Given the description of an element on the screen output the (x, y) to click on. 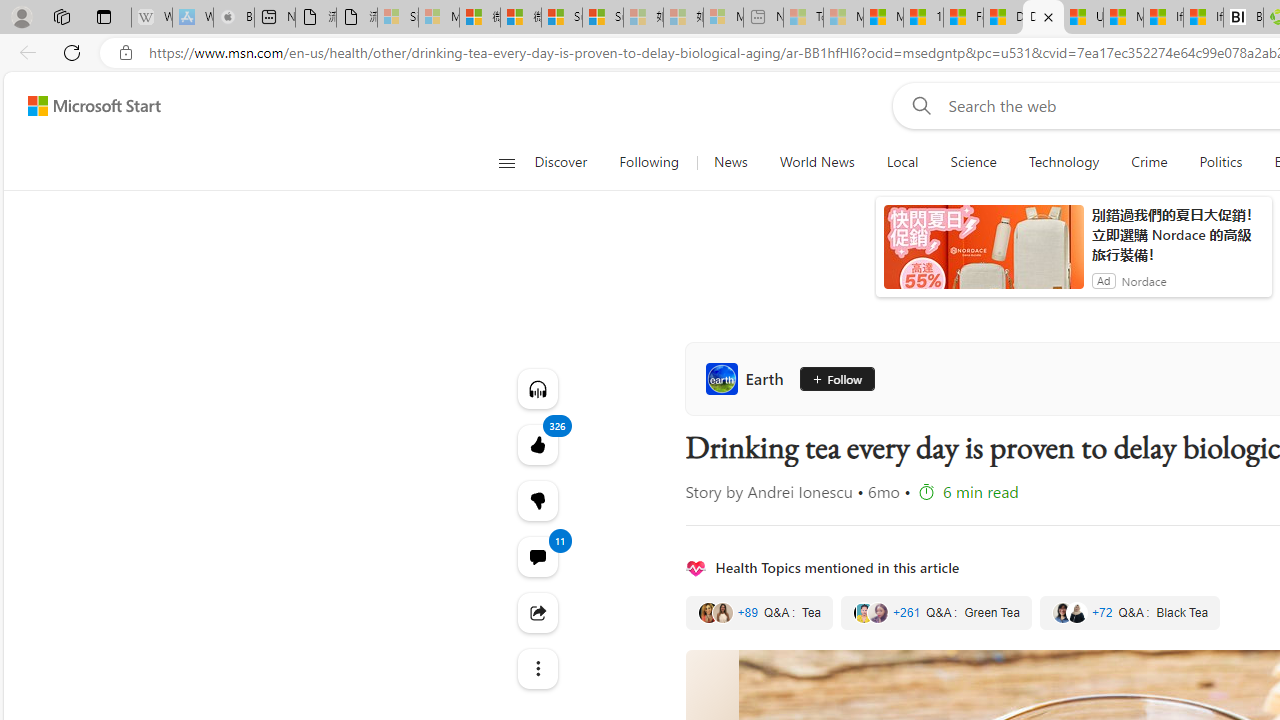
Wikipedia - Sleeping (151, 17)
Top Stories - MSN - Sleeping (803, 17)
News (730, 162)
Class: button-glyph (505, 162)
Workspaces (61, 16)
See more (537, 668)
Food and Drink - MSN (963, 17)
Science (973, 162)
Sign in to your Microsoft account - Sleeping (397, 17)
